Given the description of an element on the screen output the (x, y) to click on. 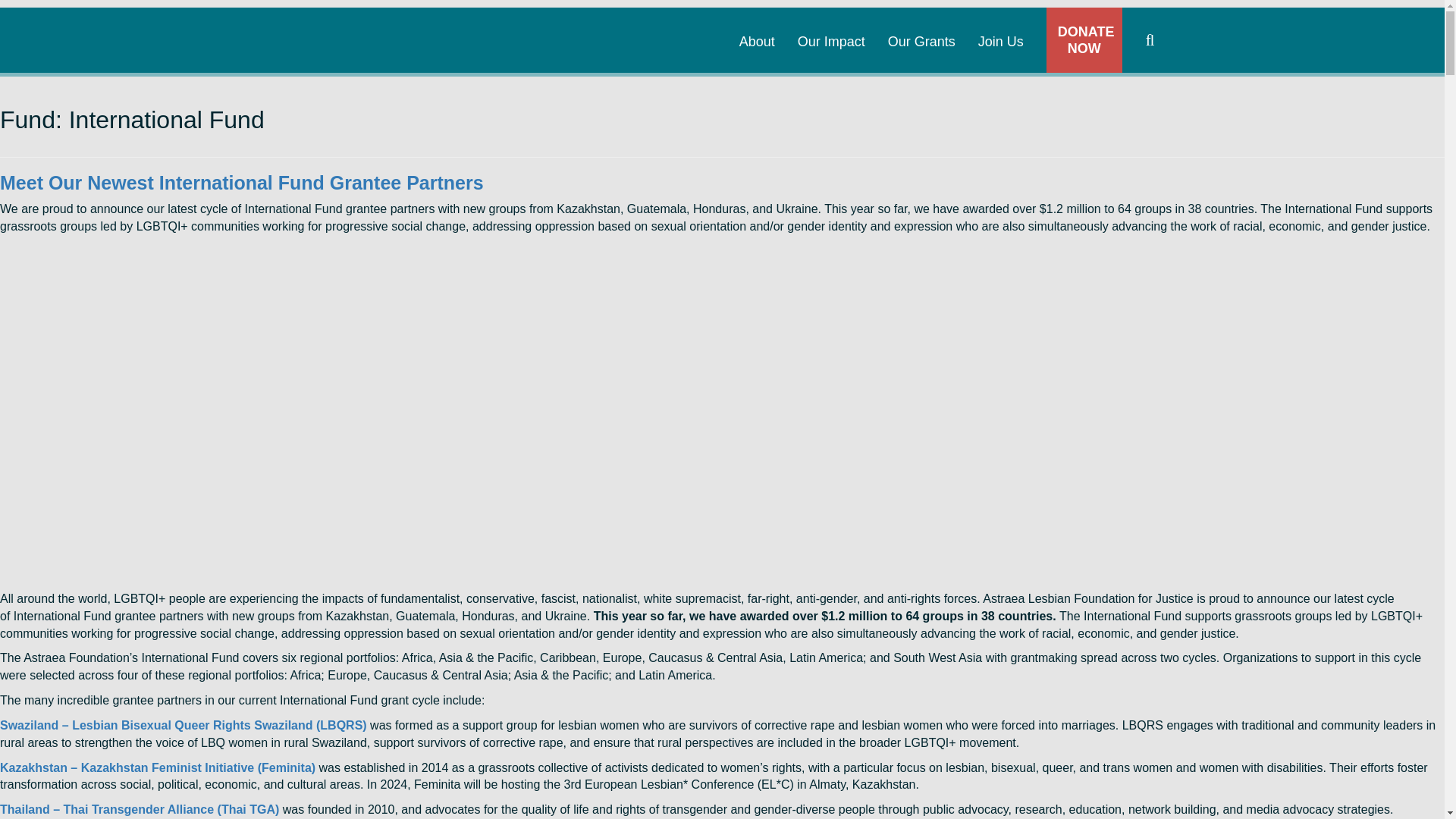
DONATE NOW (1084, 39)
Our Grants (921, 27)
Join Us (1000, 27)
Our Impact (830, 27)
